Given the description of an element on the screen output the (x, y) to click on. 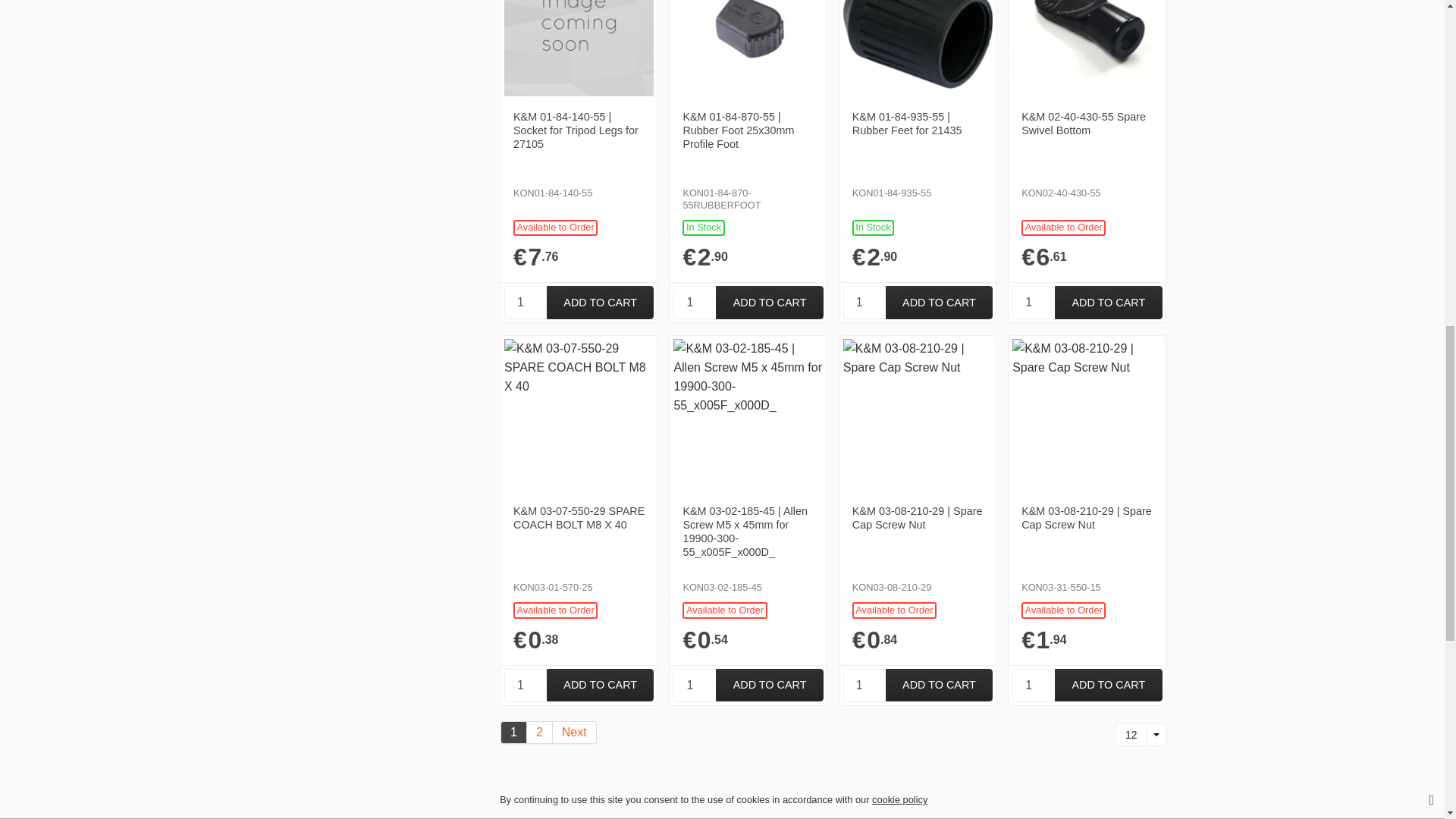
1 (525, 302)
1 (1032, 302)
Quantity input (694, 302)
KON01-84-935-55 (938, 302)
KON02-40-430-55 (1107, 302)
Quantity input (1032, 302)
1 (1032, 685)
KON01-84-870-55RUBBERFOOT (769, 302)
KON01-84-140-55 (600, 302)
KON03-01-570-25 (600, 685)
